Given the description of an element on the screen output the (x, y) to click on. 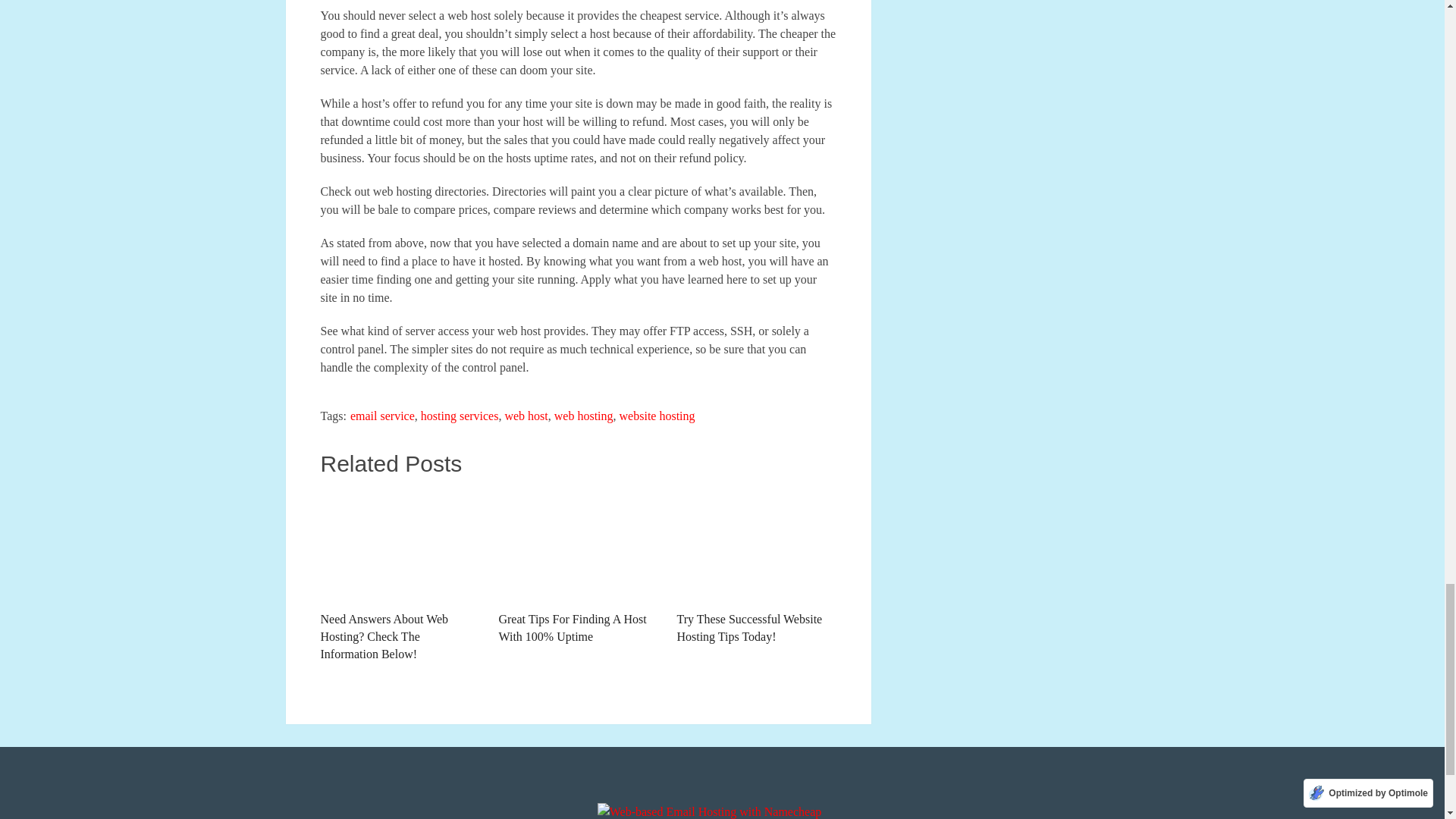
Need Answers About Web Hosting? Check The Information Below! (399, 575)
Need Answers About Web Hosting? Check The Information Below! (399, 575)
Try These Successful Website Hosting Tips Today! (756, 566)
Try These Successful Website Hosting Tips Today! (756, 566)
web host (525, 415)
Try These Successful Website Hosting Tips Today! (756, 545)
web hosting (583, 415)
email service (382, 415)
website hosting (657, 415)
hosting services (459, 415)
